Given the description of an element on the screen output the (x, y) to click on. 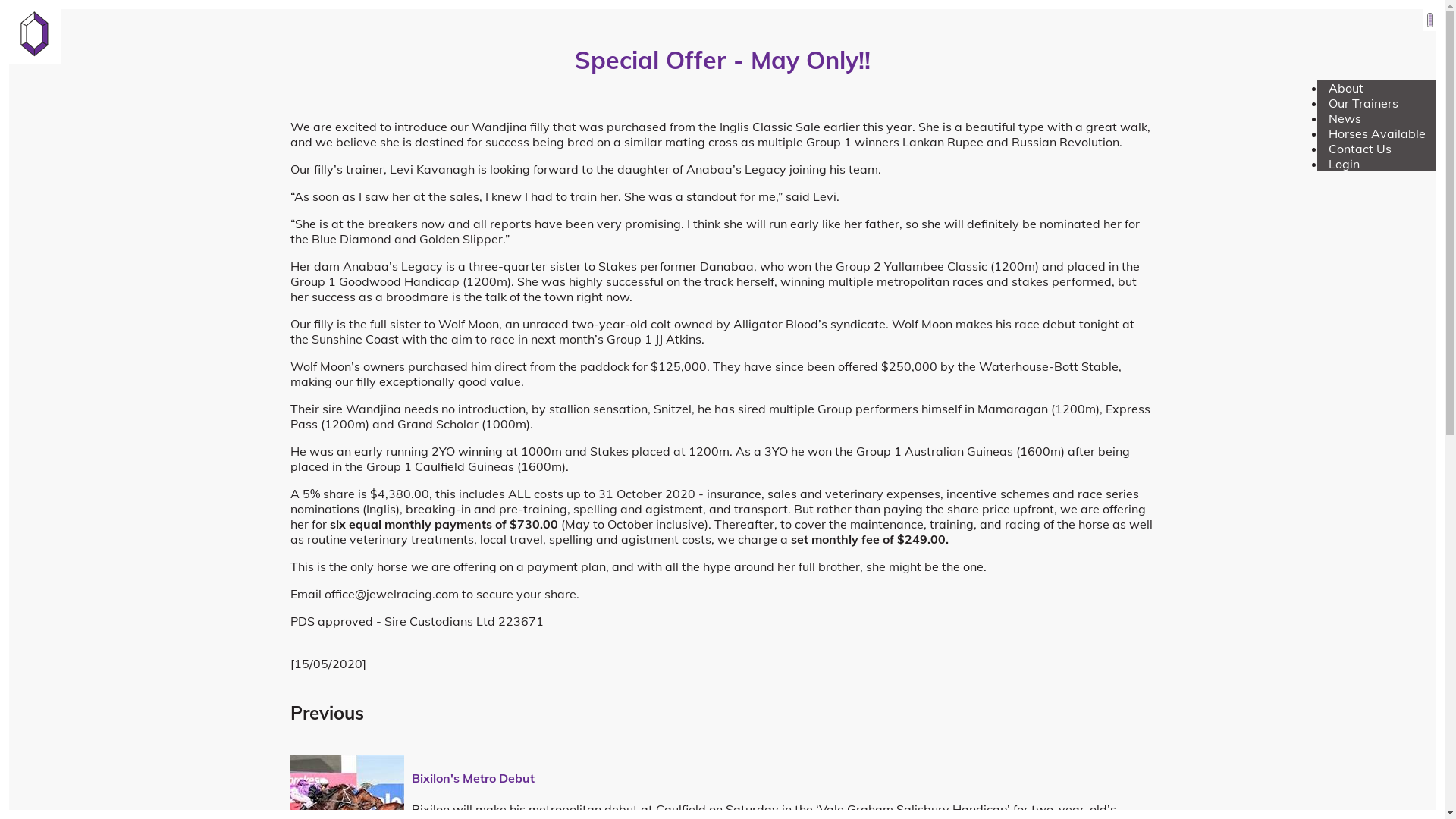
Contact Us Element type: text (1359, 148)
Our Trainers Element type: text (1363, 102)
Login Element type: text (1343, 163)
Horses Available Element type: text (1376, 133)
Bixilon's Metro Debut Element type: text (472, 777)
About Element type: text (1345, 87)
  Element type: text (1430, 19)
News Element type: text (1344, 117)
